Given the description of an element on the screen output the (x, y) to click on. 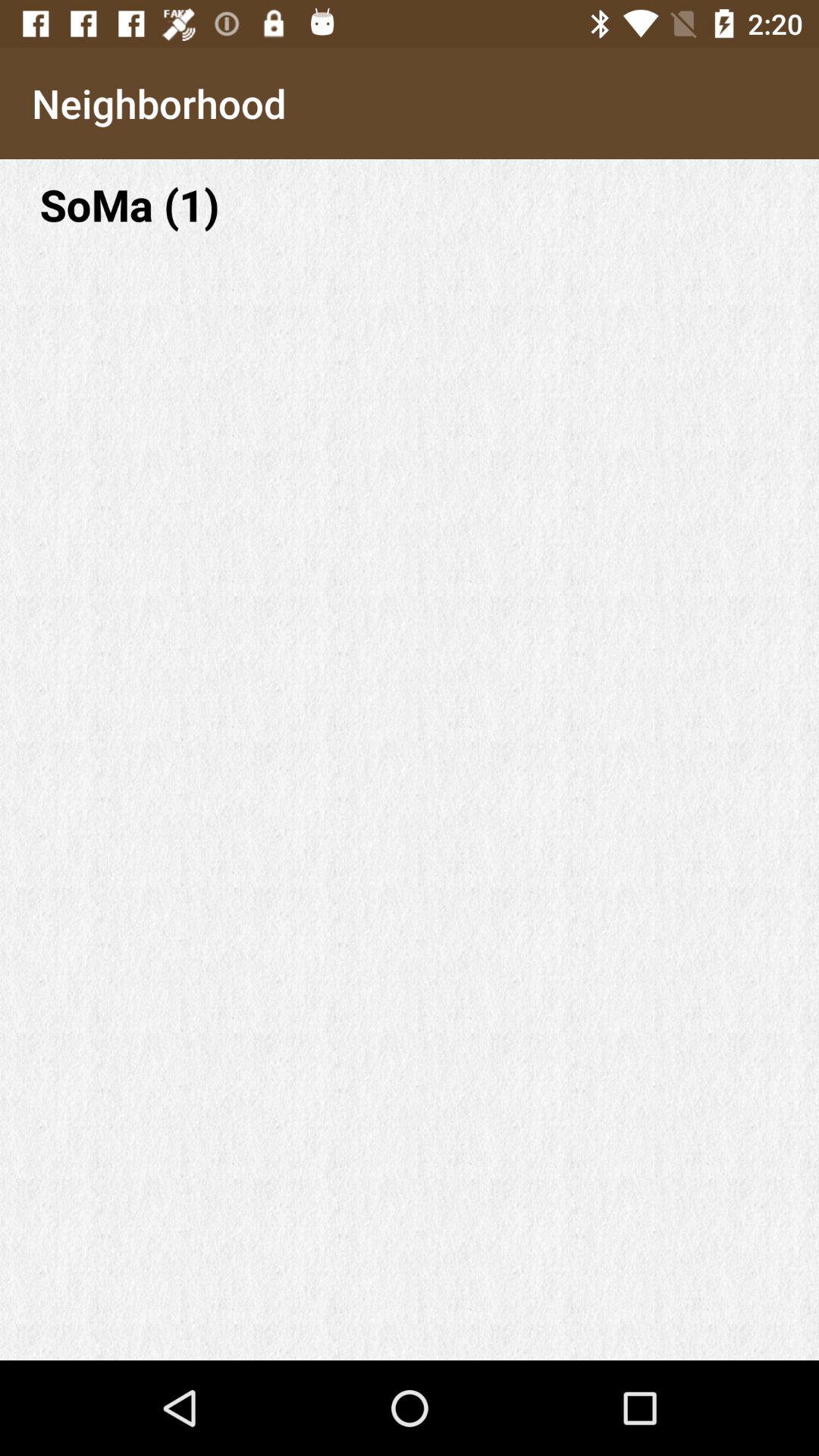
click soma (1) item (409, 204)
